Given the description of an element on the screen output the (x, y) to click on. 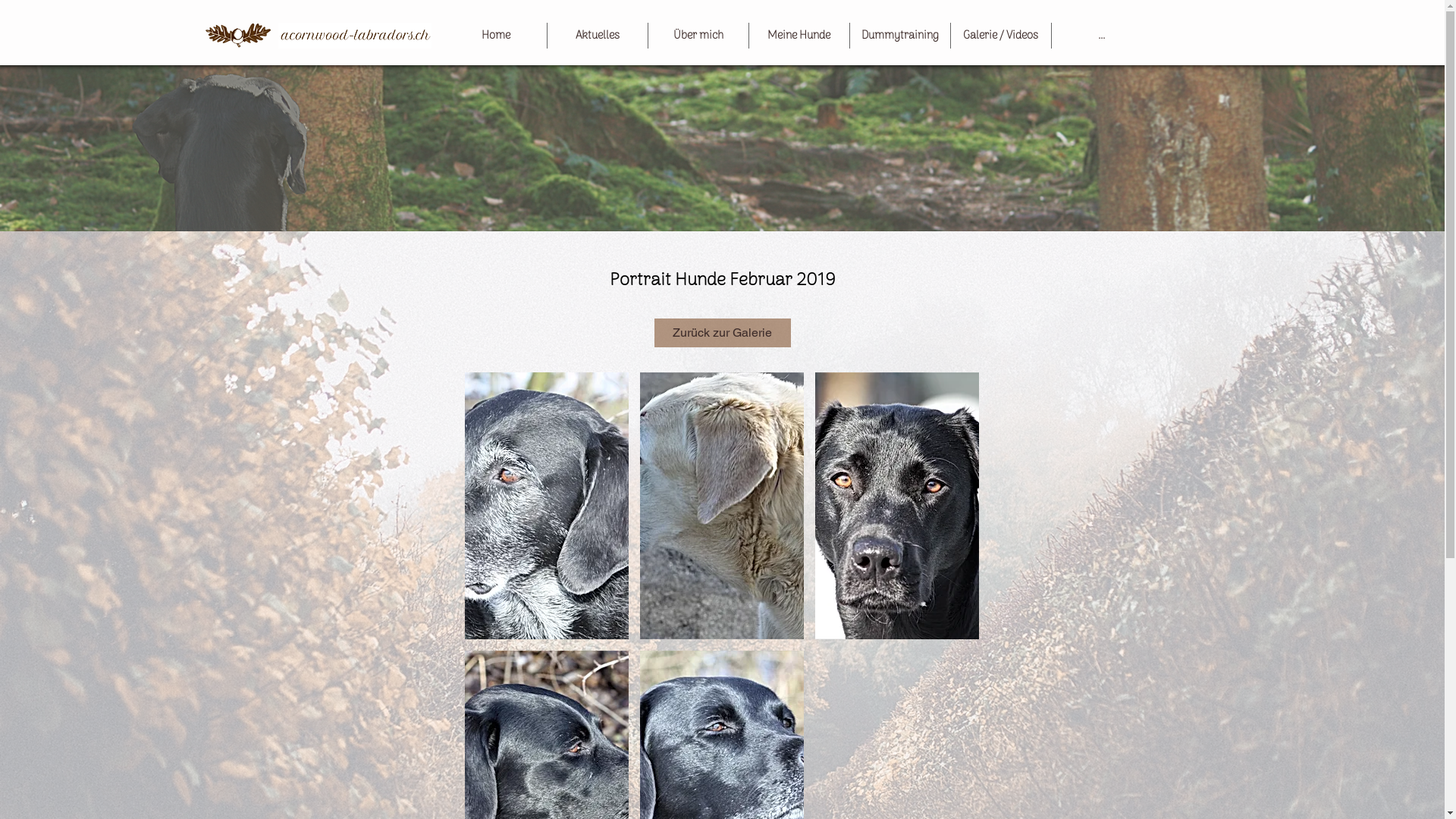
Dummytraining Element type: text (899, 35)
Galerie / Videos Element type: text (1000, 35)
Meine Hunde Element type: text (799, 35)
Aktuelles Element type: text (597, 35)
Home Element type: text (495, 35)
